Given the description of an element on the screen output the (x, y) to click on. 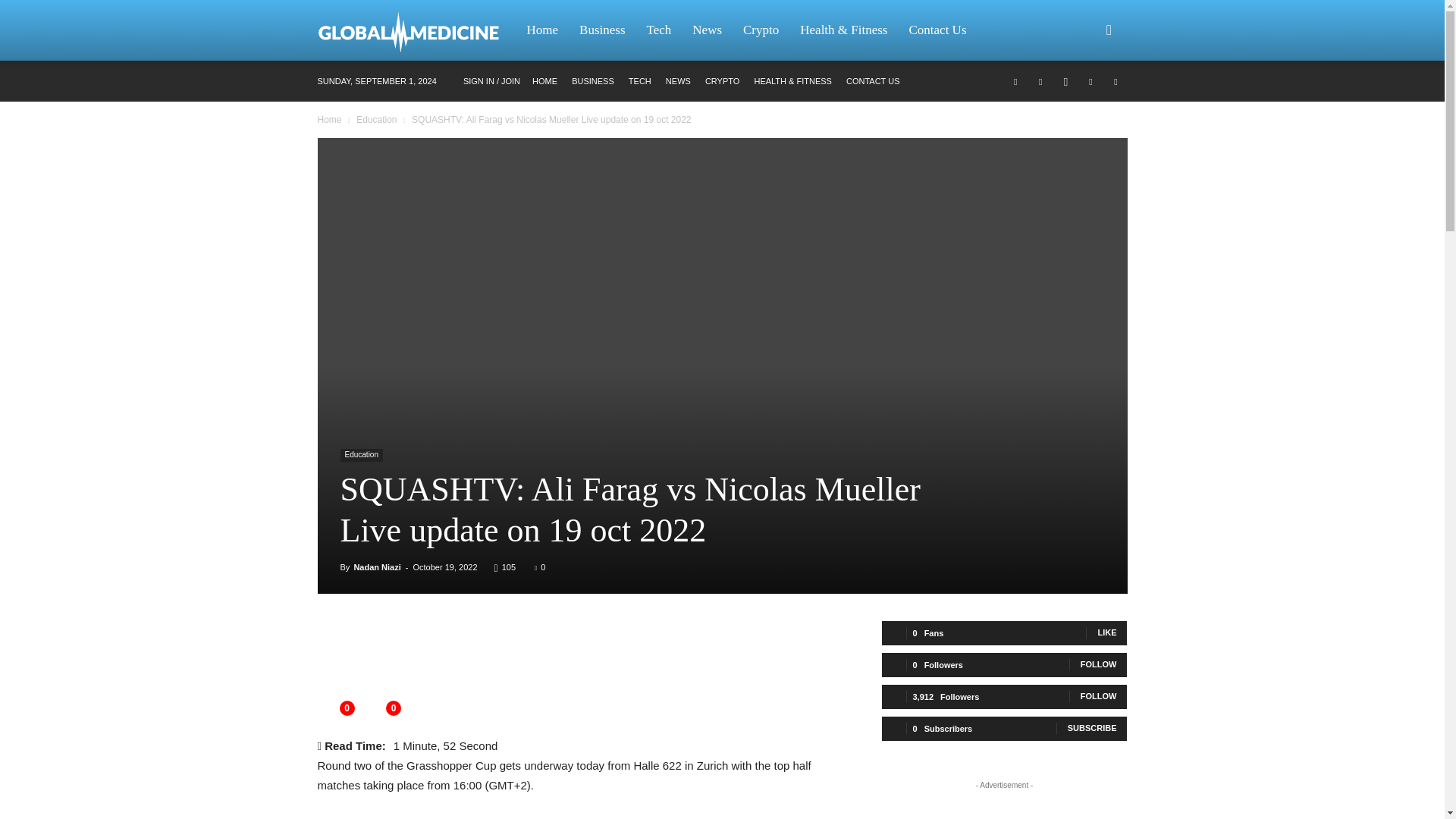
Contact Us (937, 30)
DailyTimeZone (416, 30)
Search (1085, 102)
Business (601, 30)
BUSINESS (593, 80)
Crypto (760, 30)
TECH (639, 80)
View all posts in Education (376, 119)
HOME (544, 80)
NEWS (677, 80)
